Given the description of an element on the screen output the (x, y) to click on. 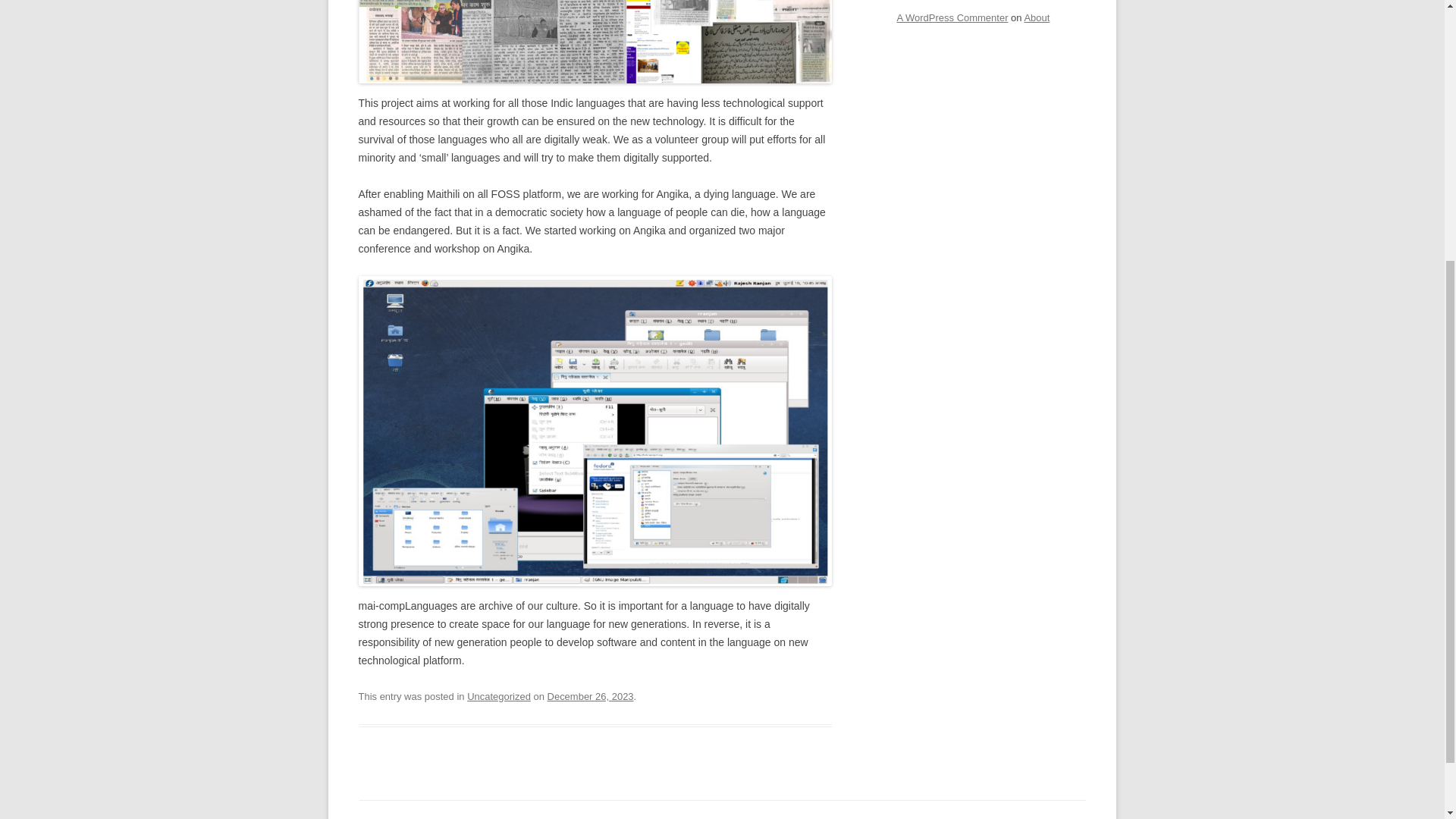
A WordPress Commenter (951, 17)
December 26, 2023 (590, 696)
6:57 pm (590, 696)
Uncategorized (499, 696)
About (1036, 17)
